Given the description of an element on the screen output the (x, y) to click on. 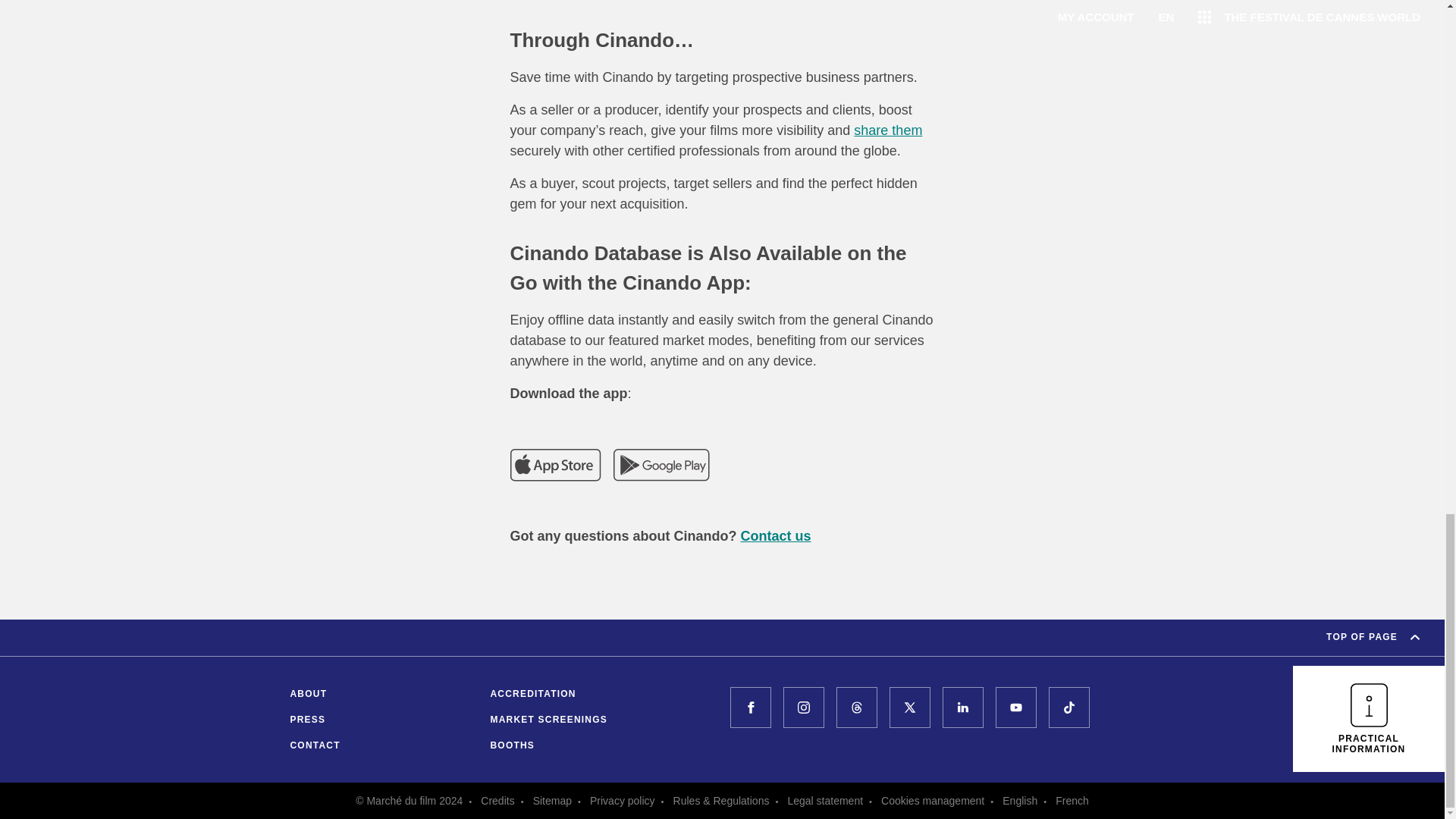
French (1072, 800)
English (1019, 800)
TOP OF PAGE (1373, 637)
